Given the description of an element on the screen output the (x, y) to click on. 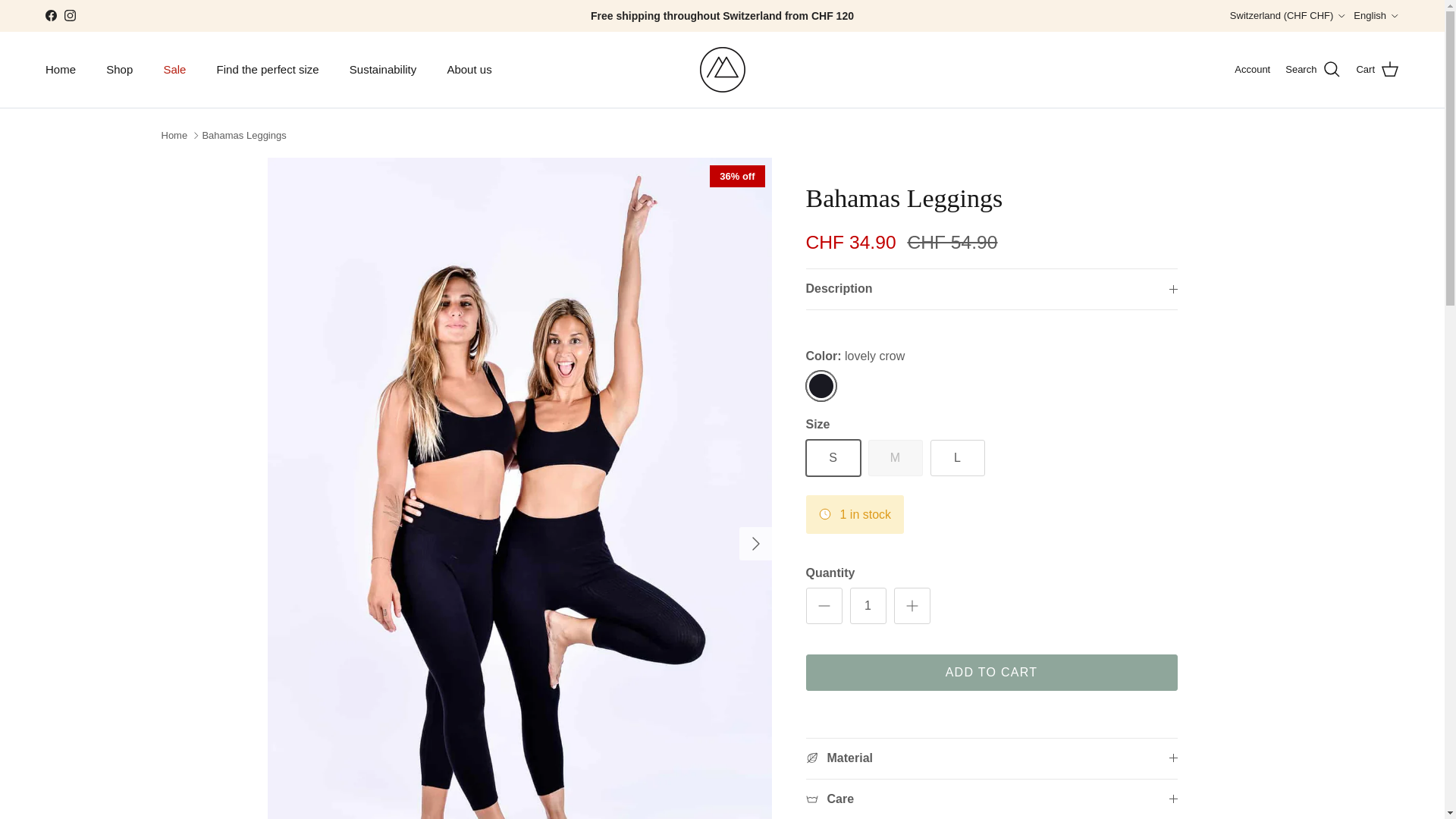
Main Design (721, 69)
Sold out (894, 457)
Account (1251, 69)
Facebook (50, 15)
About us (468, 70)
Main Design on Instagram (69, 15)
Sale (174, 70)
Shop (120, 70)
Home (60, 70)
English (1376, 15)
